Given the description of an element on the screen output the (x, y) to click on. 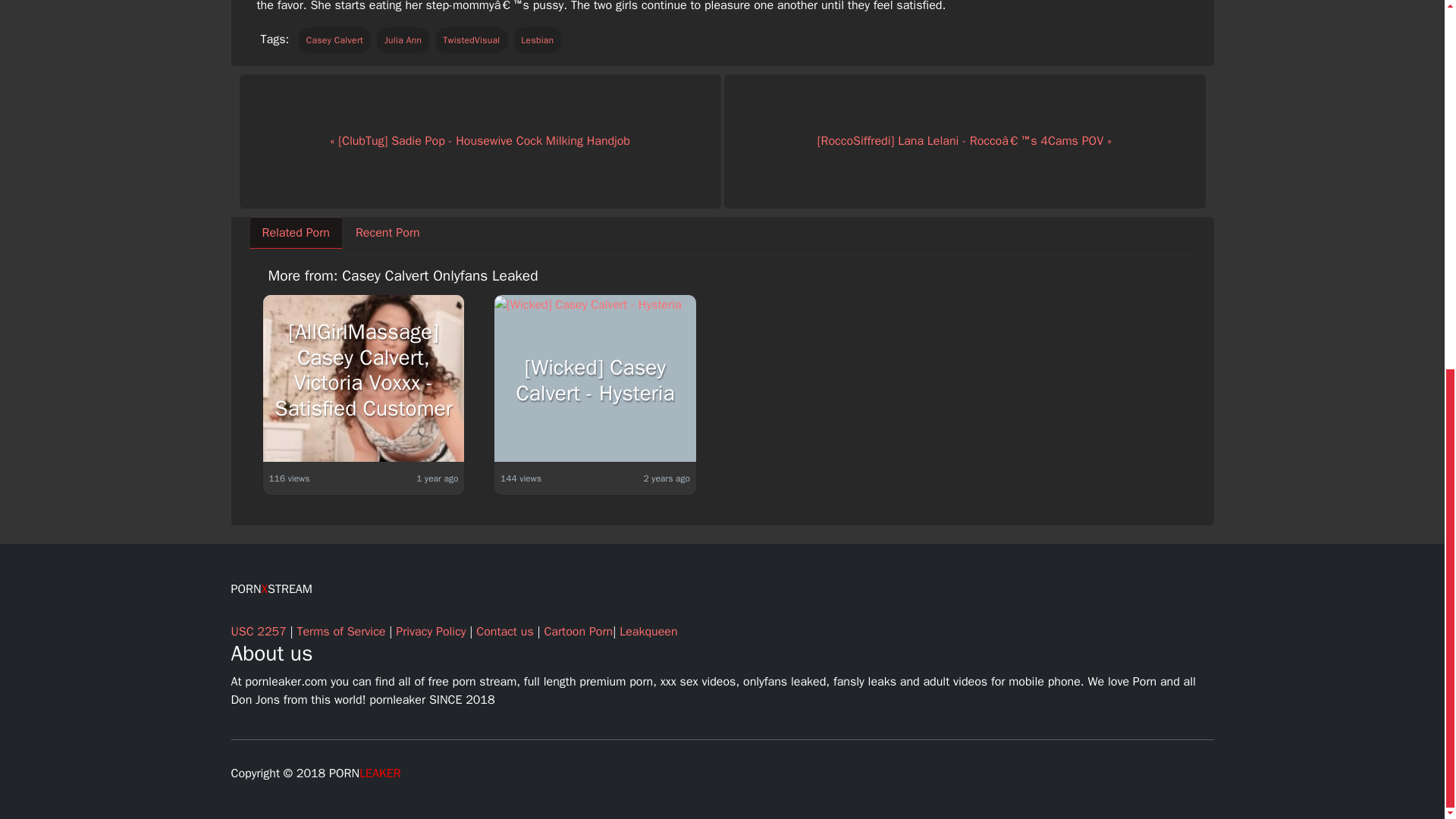
Recent Porn (387, 232)
Casey Calvert (334, 40)
Related Porn (295, 232)
Lesbian (536, 40)
TwistedVisual (470, 40)
Julia Ann (403, 40)
